Given the description of an element on the screen output the (x, y) to click on. 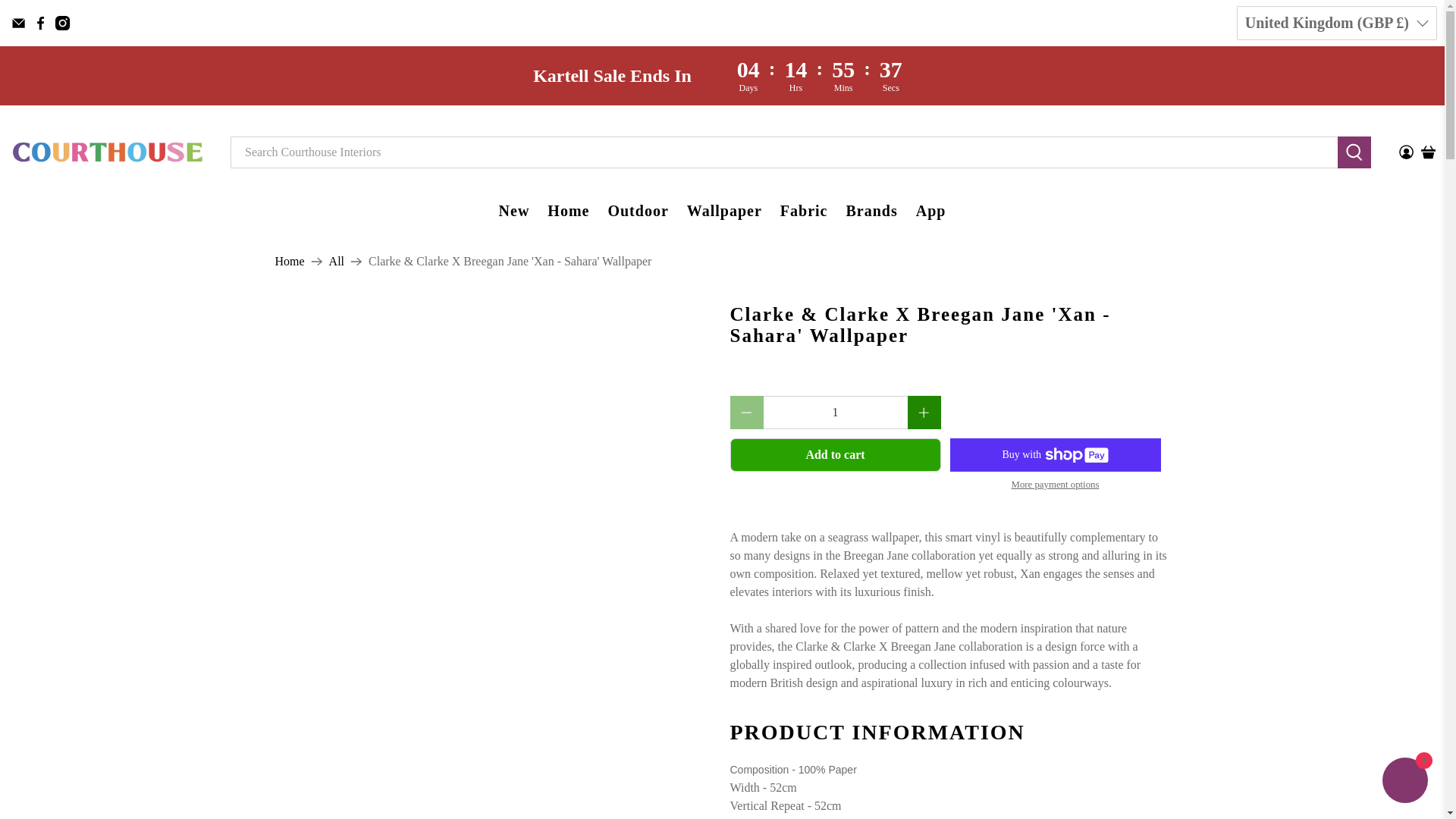
BE (1330, 603)
BM (1330, 701)
Shopify online store chat (1404, 781)
BS (1330, 473)
BA (1330, 800)
AZ (1330, 441)
BB (1330, 571)
AI (1330, 193)
1 (834, 412)
AW (1330, 342)
BH (1330, 505)
AD (1330, 128)
Courthouse Interiors (289, 261)
DZ (1330, 95)
BO (1330, 766)
